Given the description of an element on the screen output the (x, y) to click on. 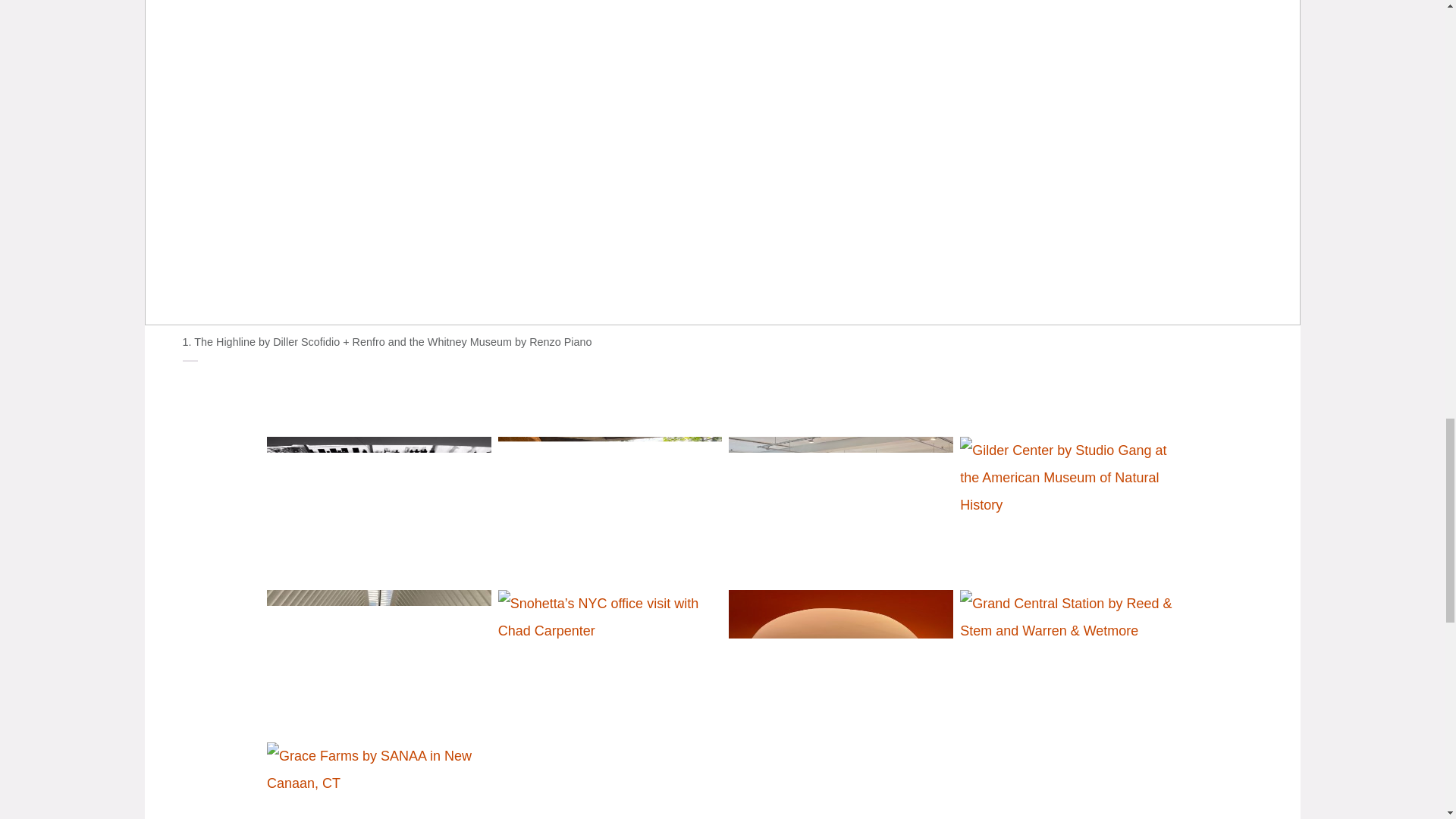
: Grace Farms by SANAA in New Canaan, CT (376, 770)
: Guggenheim Museum by Frank Lloyd Wright (376, 506)
: World Trade Center Transit Hub by Santiago Calatrava (376, 659)
: Adams Street Library by Workac (837, 659)
: Noguchi Museum (607, 506)
